Given the description of an element on the screen output the (x, y) to click on. 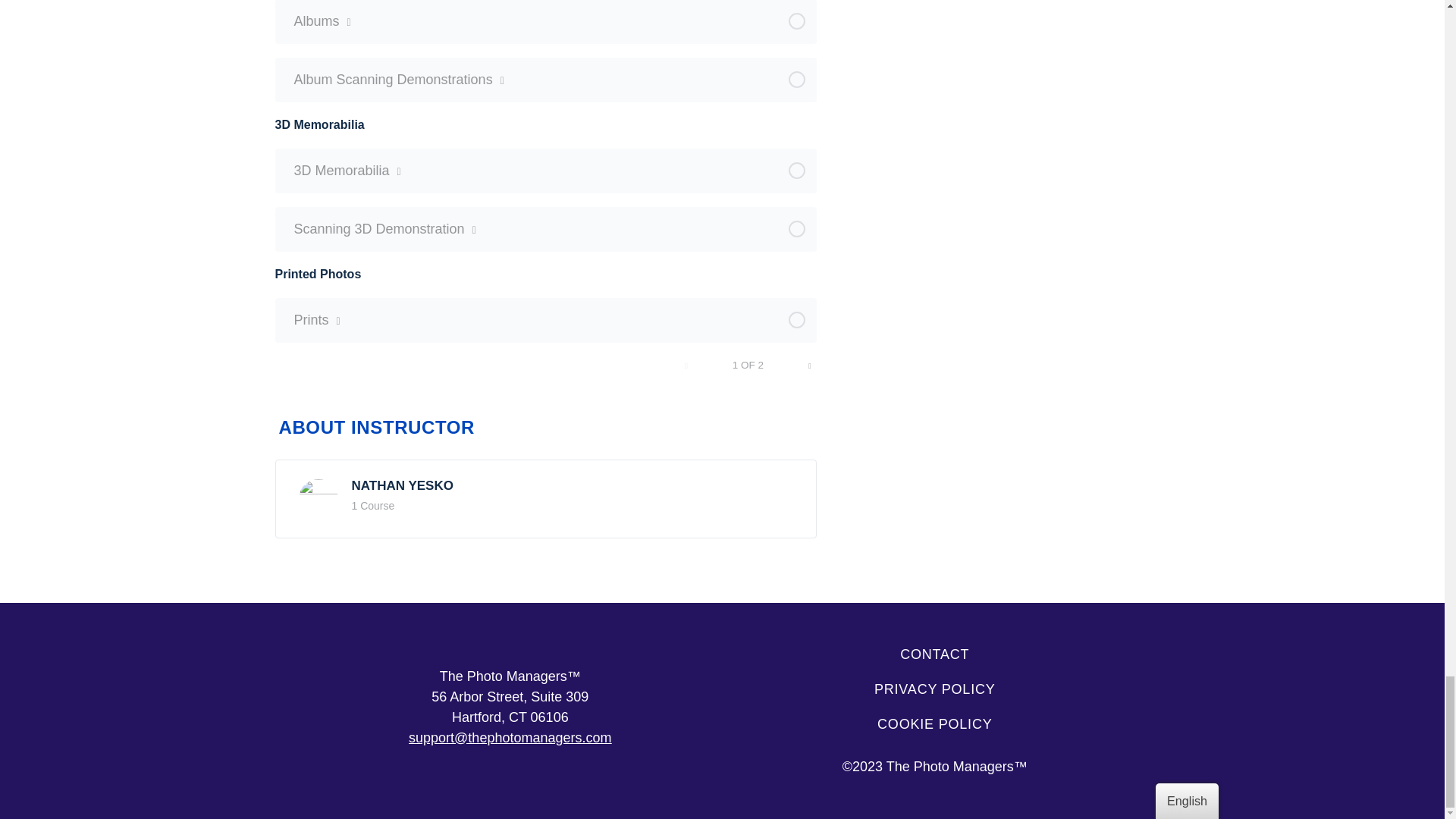
3D Memorabilia (545, 170)
NATHAN YESKO (402, 485)
Prints (545, 320)
PRIVACY POLICY (934, 688)
Scanning 3D Demonstration (545, 229)
CONTACT (934, 654)
Albums (545, 21)
Album Scanning Demonstrations (545, 79)
